Given the description of an element on the screen output the (x, y) to click on. 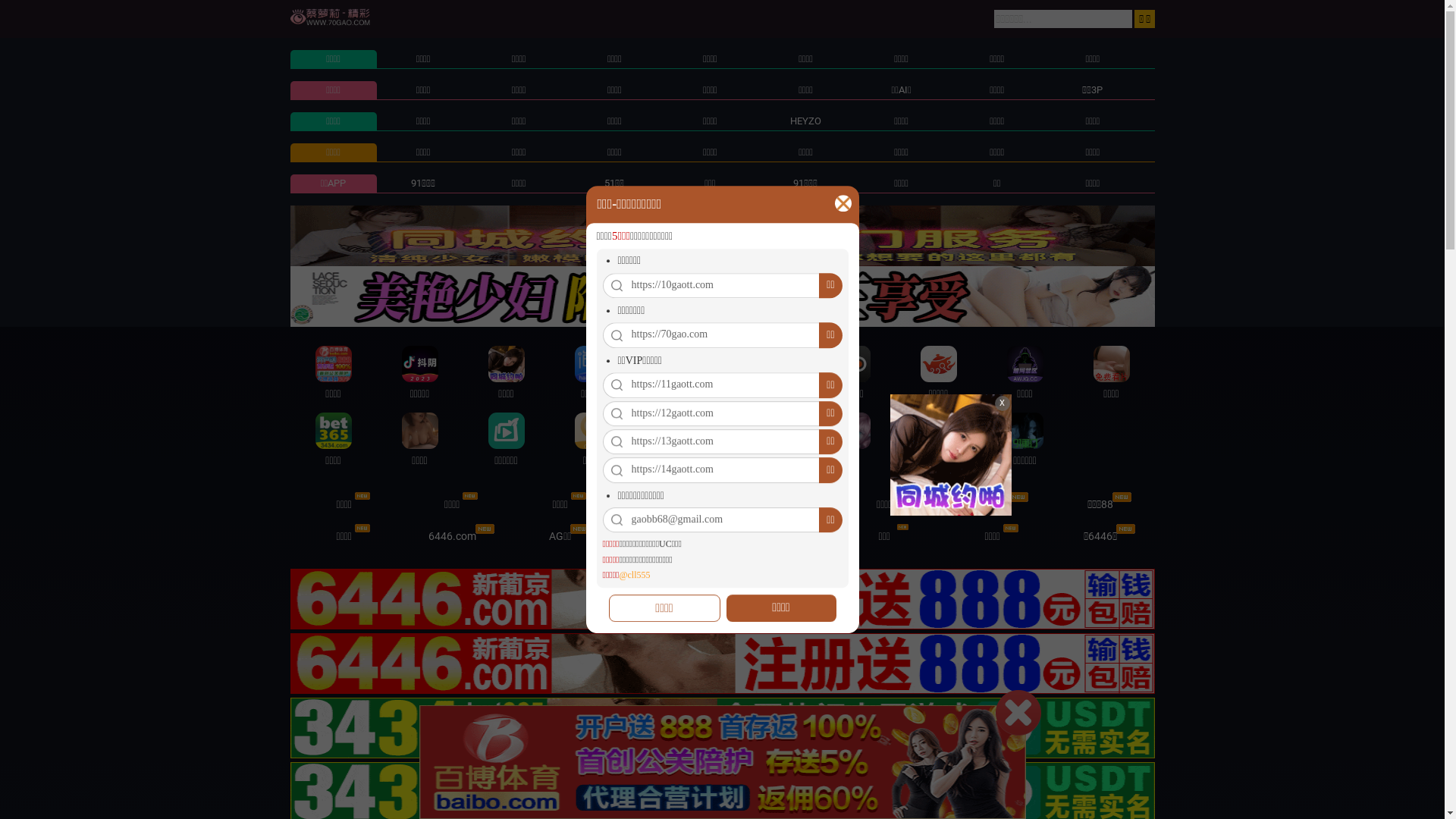
@cll555 Element type: text (633, 574)
HEYZO Element type: text (805, 120)
6446.com Element type: text (452, 535)
